Given the description of an element on the screen output the (x, y) to click on. 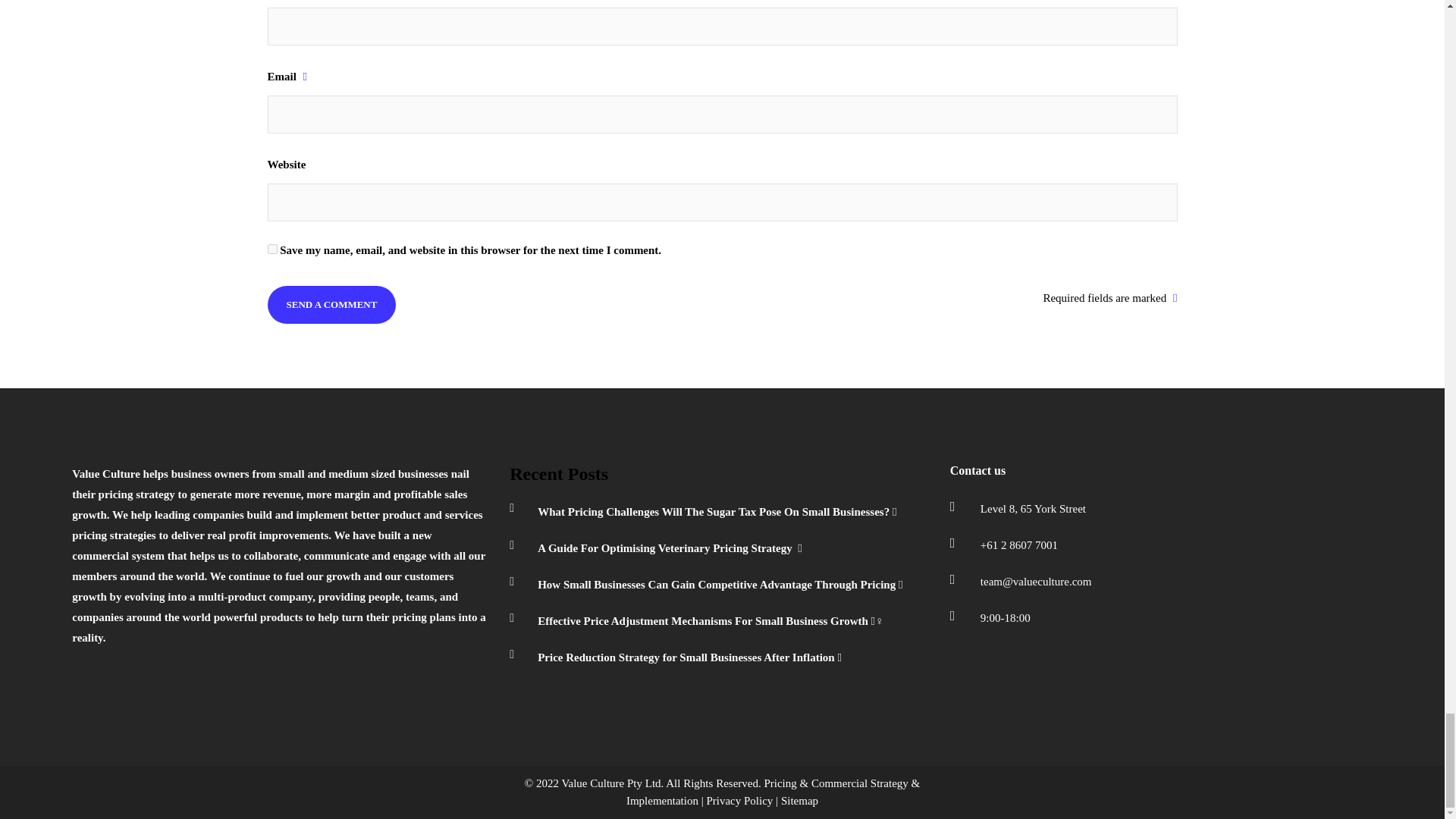
Sitemap (799, 800)
Send a comment (331, 303)
Privacy Policy (739, 800)
yes (271, 248)
Send a comment (331, 303)
